Given the description of an element on the screen output the (x, y) to click on. 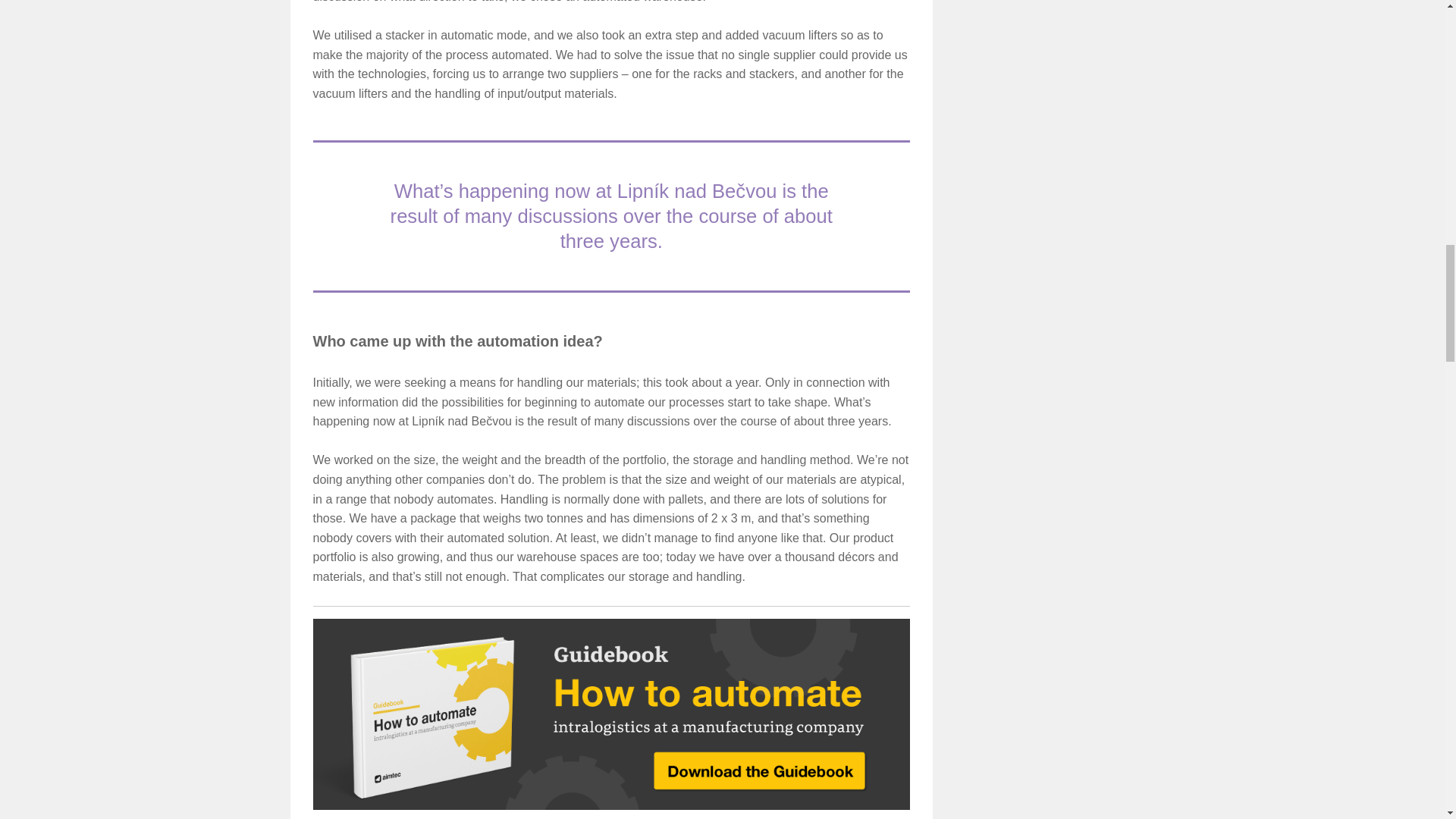
Guide to warehouse automation (611, 714)
